Given the description of an element on the screen output the (x, y) to click on. 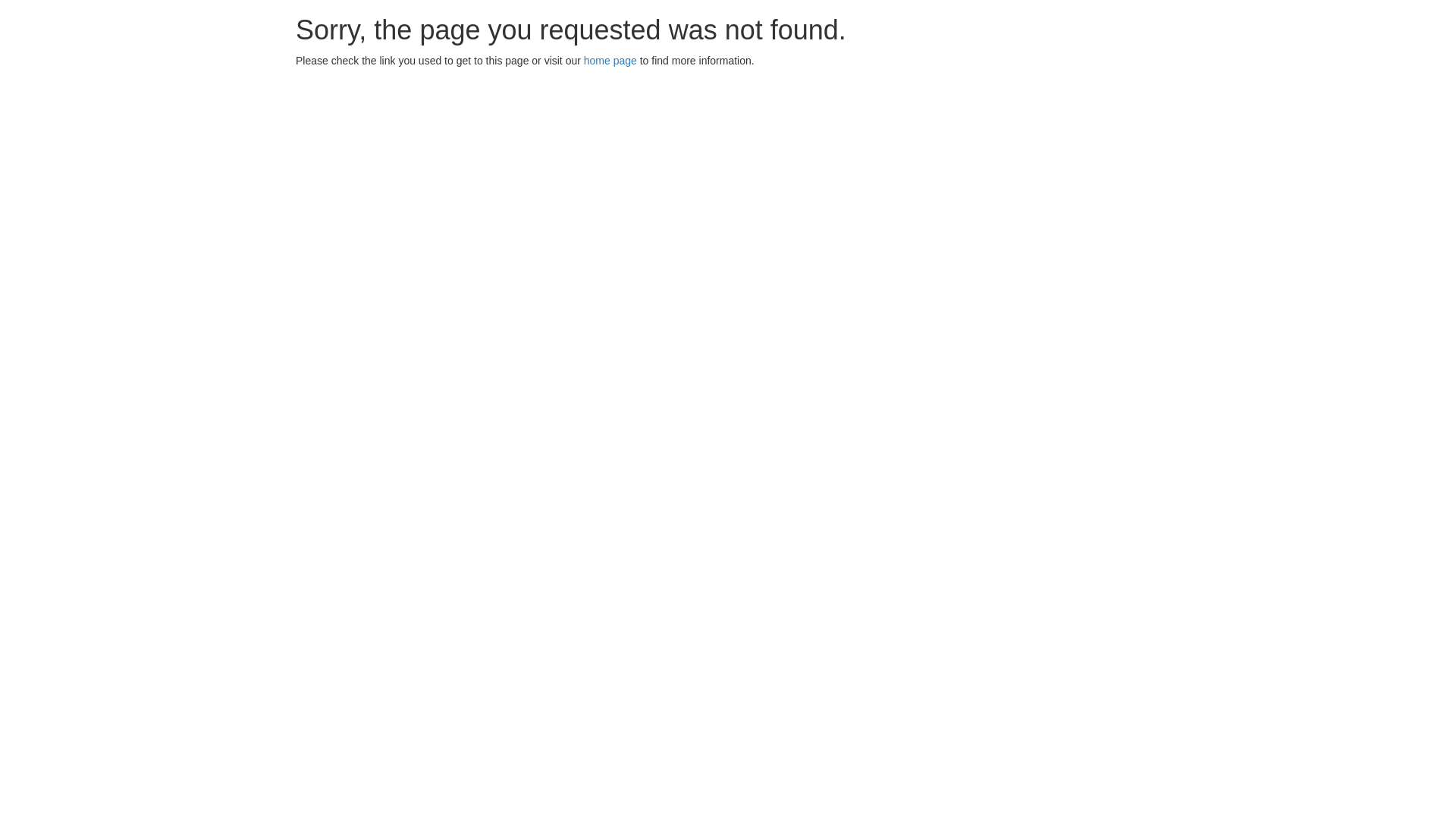
home page Element type: text (610, 60)
